Given the description of an element on the screen output the (x, y) to click on. 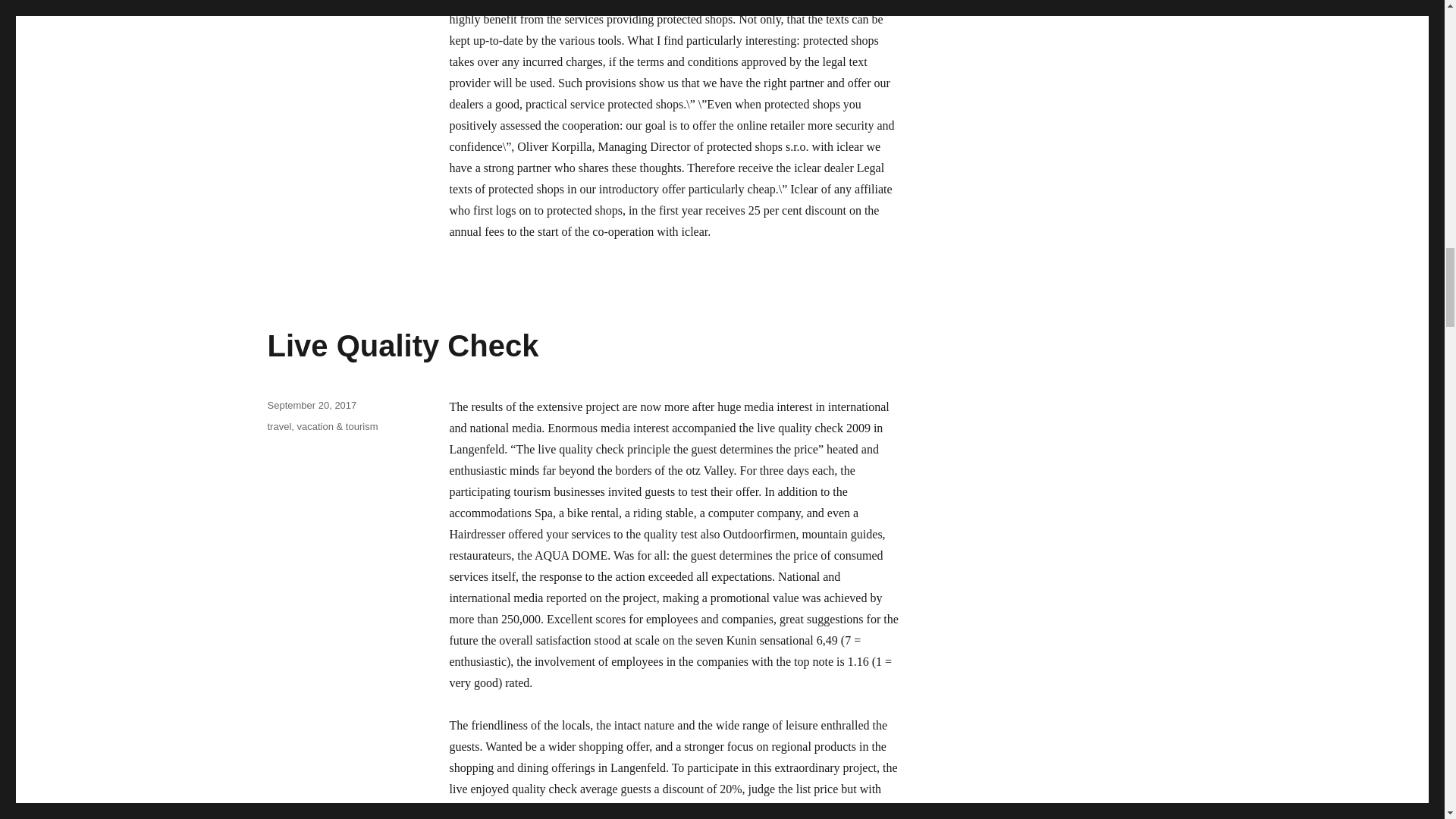
September 20, 2017 (311, 405)
Live Quality Check (402, 345)
travel (278, 426)
